Given the description of an element on the screen output the (x, y) to click on. 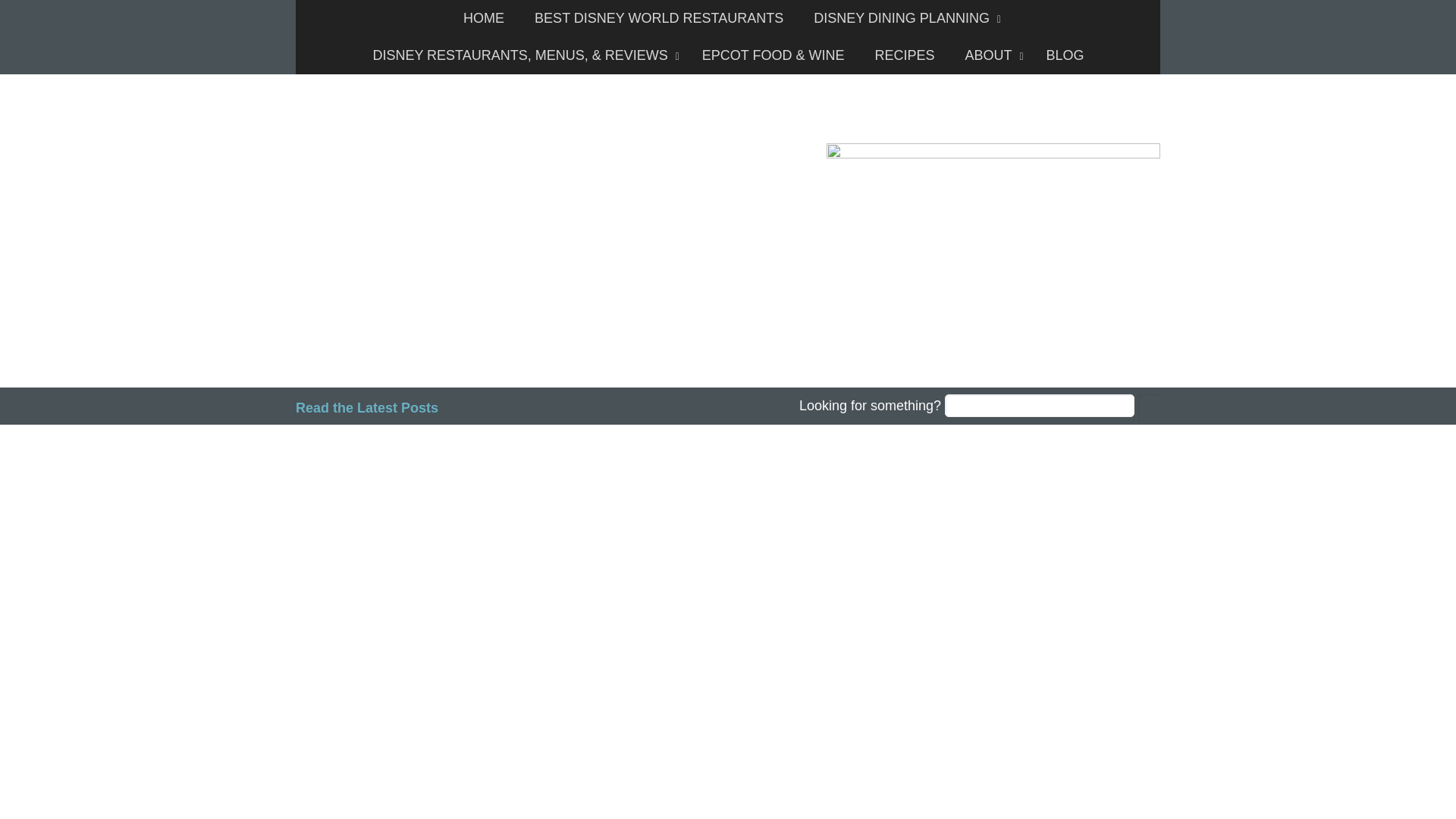
DISNEY DINING PLANNING (903, 18)
HOME (483, 18)
BEST DISNEY WORLD RESTAURANTS (658, 18)
